Given the description of an element on the screen output the (x, y) to click on. 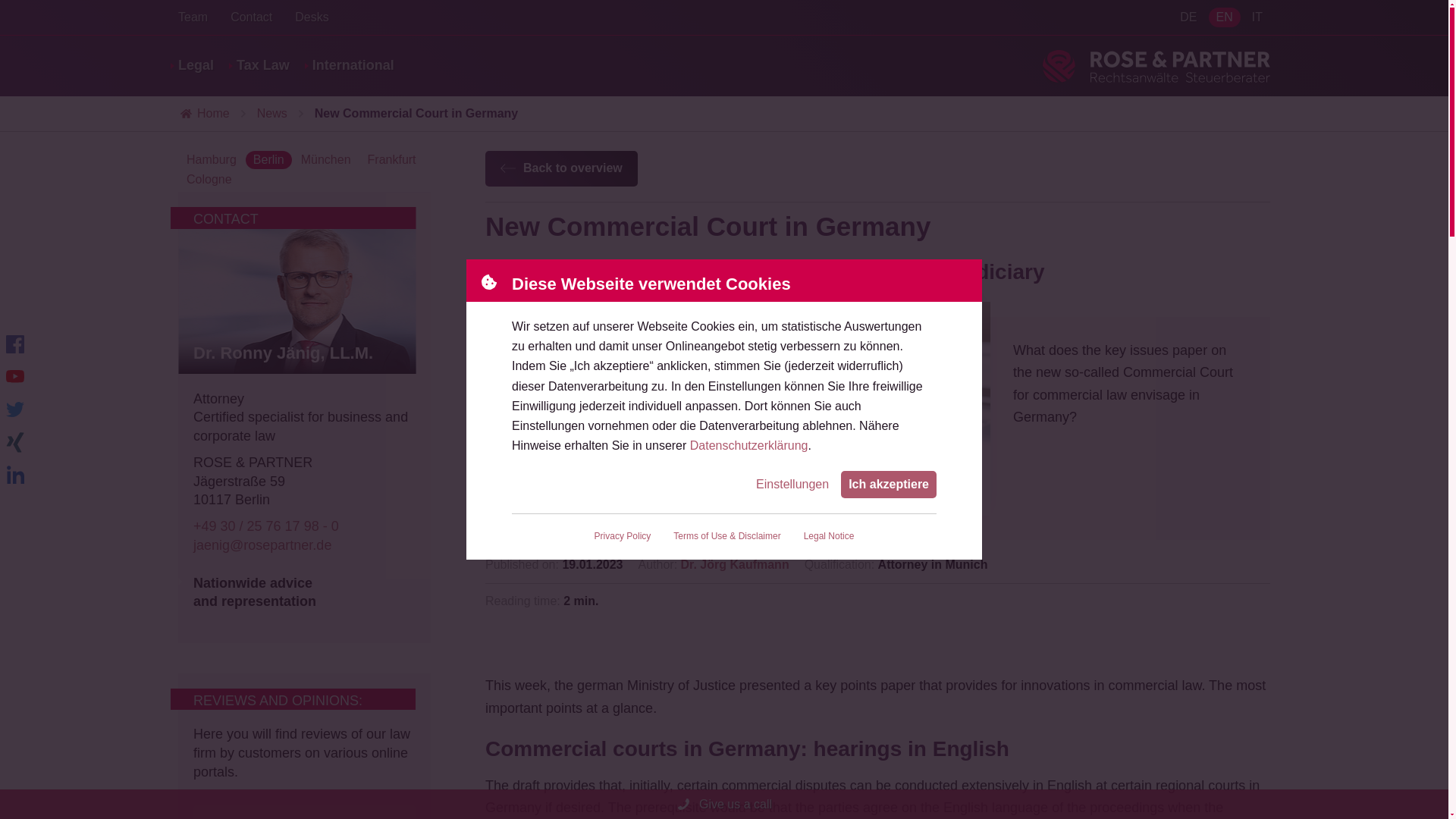
News (271, 113)
Opens internal link in current window (282, 352)
Home (203, 113)
Commercial Court Trade Court Germany Business Law (749, 409)
Tax Law (262, 65)
Back to overview (560, 167)
Contact (251, 17)
Berlin (269, 159)
International (353, 65)
Legal (195, 65)
News (271, 113)
IT (1155, 65)
DE (1256, 17)
Desks (1188, 17)
